Given the description of an element on the screen output the (x, y) to click on. 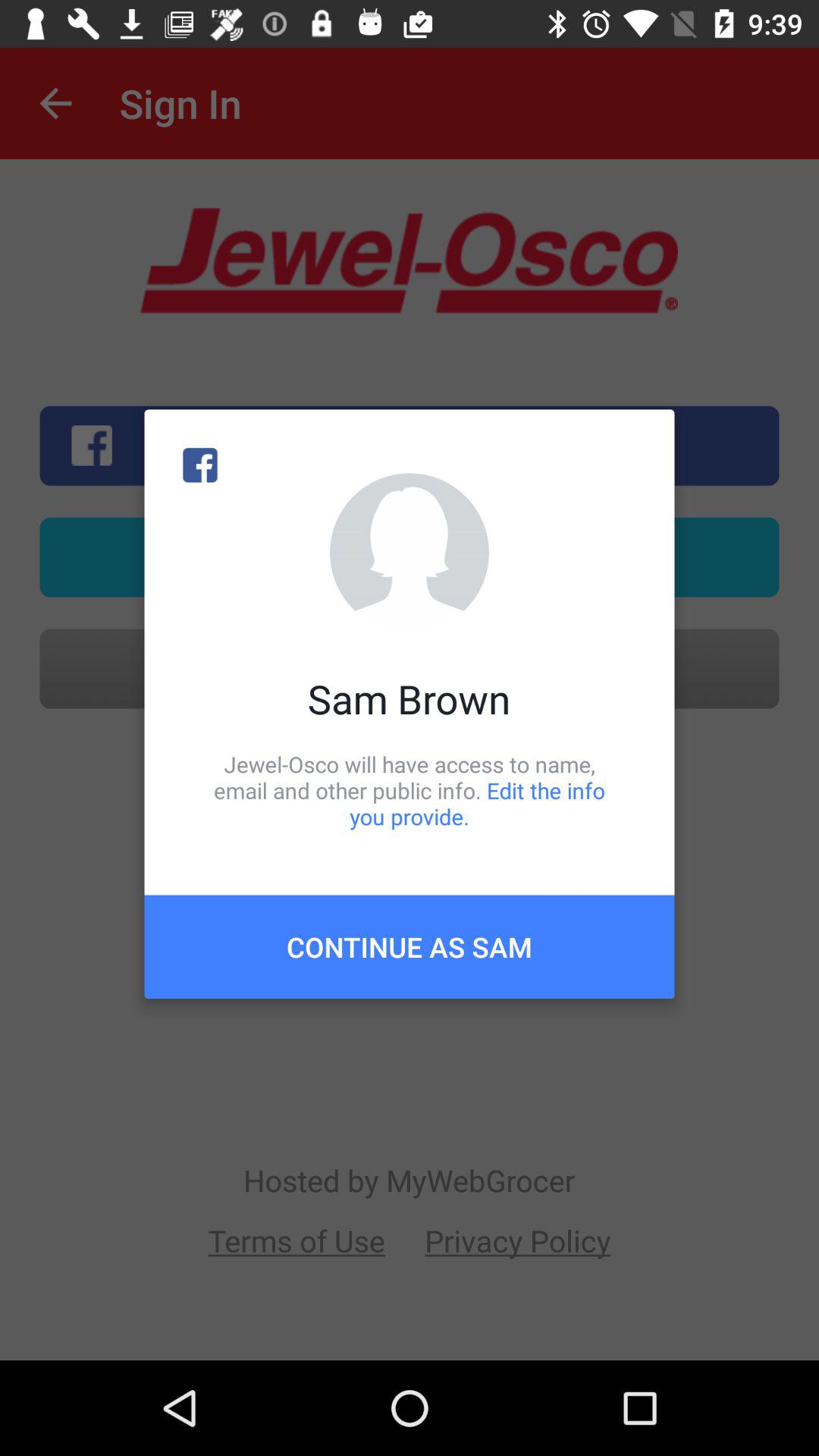
click the continue as sam icon (409, 946)
